Given the description of an element on the screen output the (x, y) to click on. 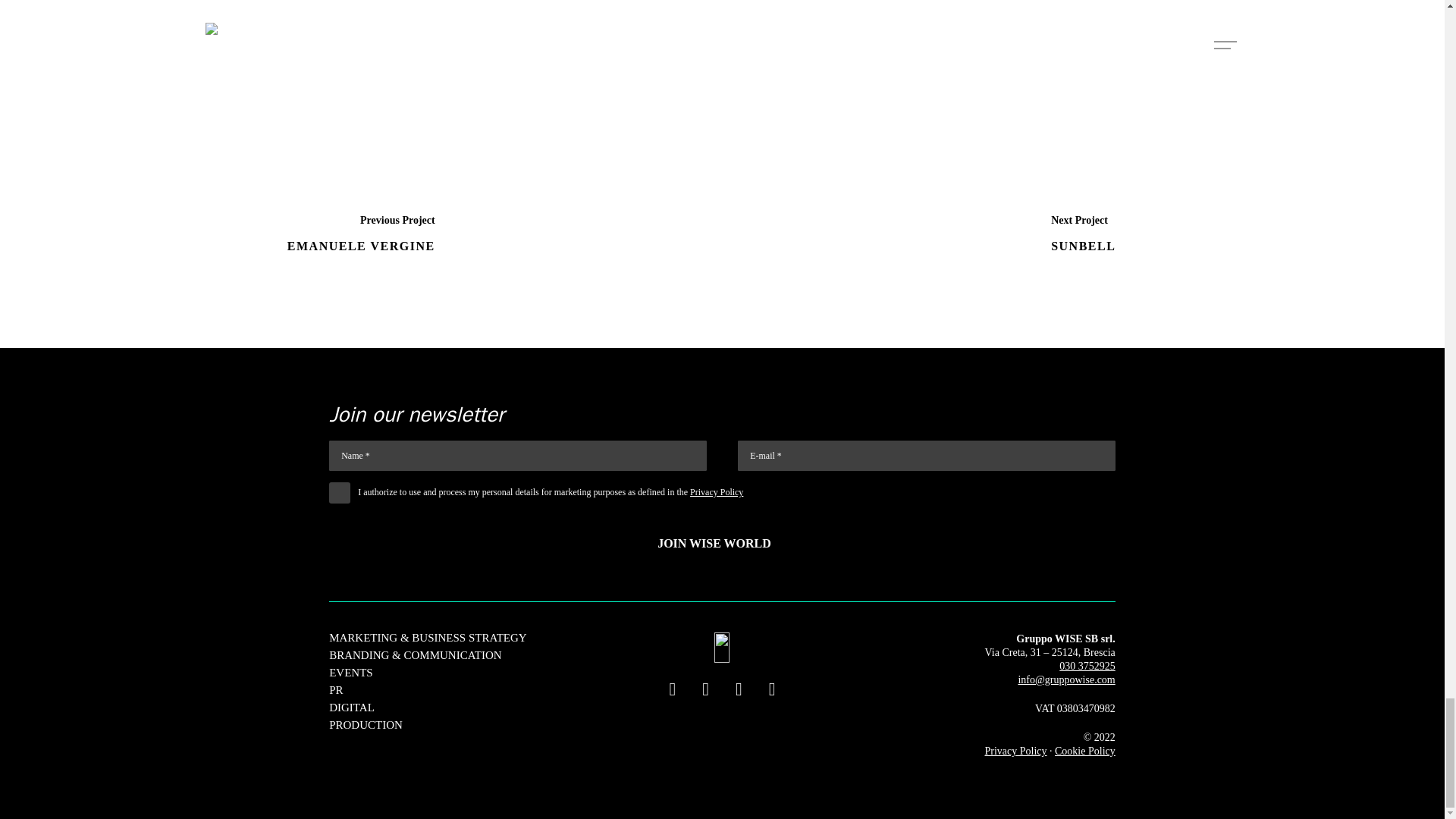
EVENTS (350, 672)
JOIN WISE WORLD (721, 543)
PR (335, 690)
Privacy Policy (1015, 750)
030 3752925 (1087, 665)
DIGITAL (351, 707)
Cookie Policy (1084, 750)
Privacy Policy (716, 491)
PRODUCTION (366, 725)
